Given the description of an element on the screen output the (x, y) to click on. 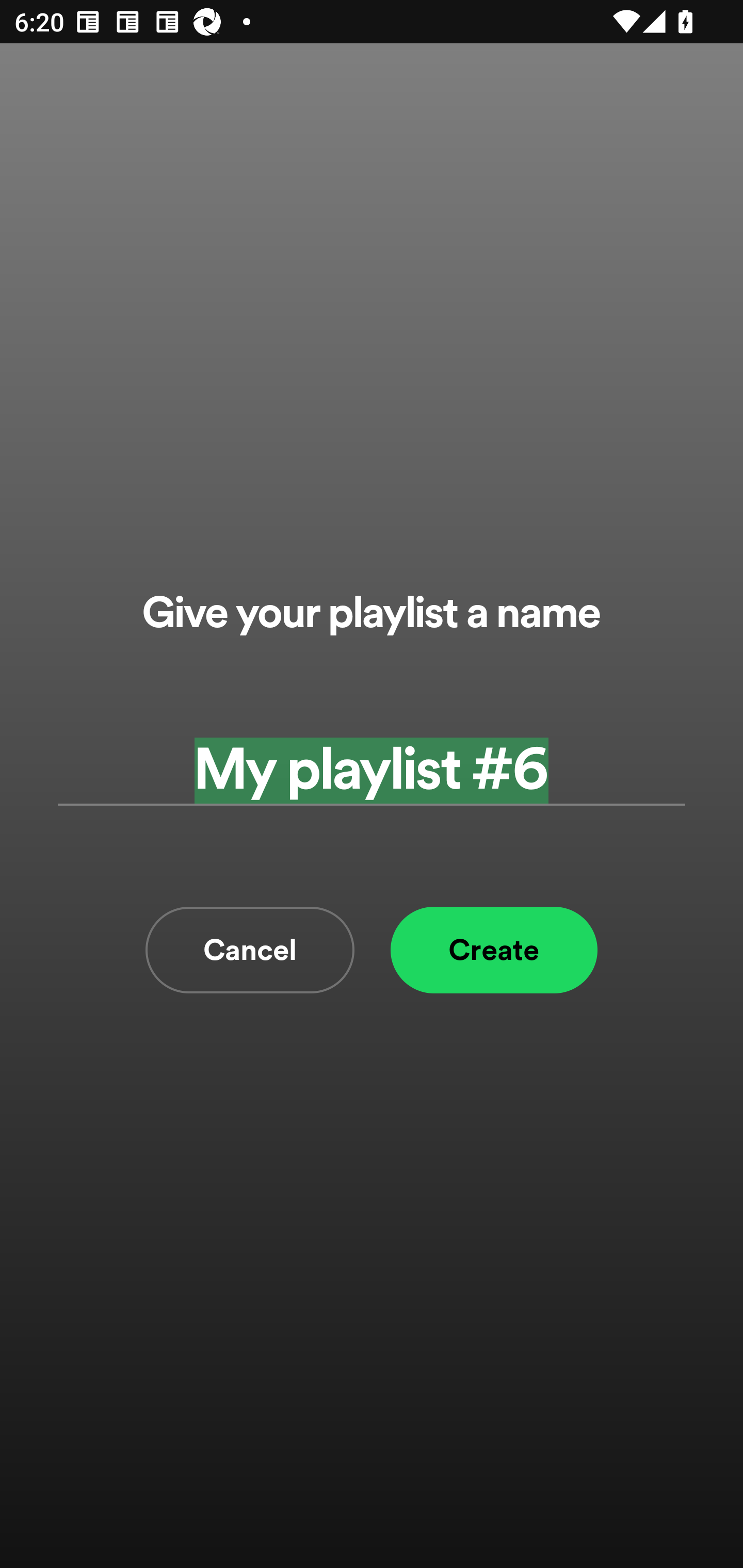
My playlist #6 Add a playlist name (371, 769)
Cancel (249, 950)
Create (493, 950)
